Given the description of an element on the screen output the (x, y) to click on. 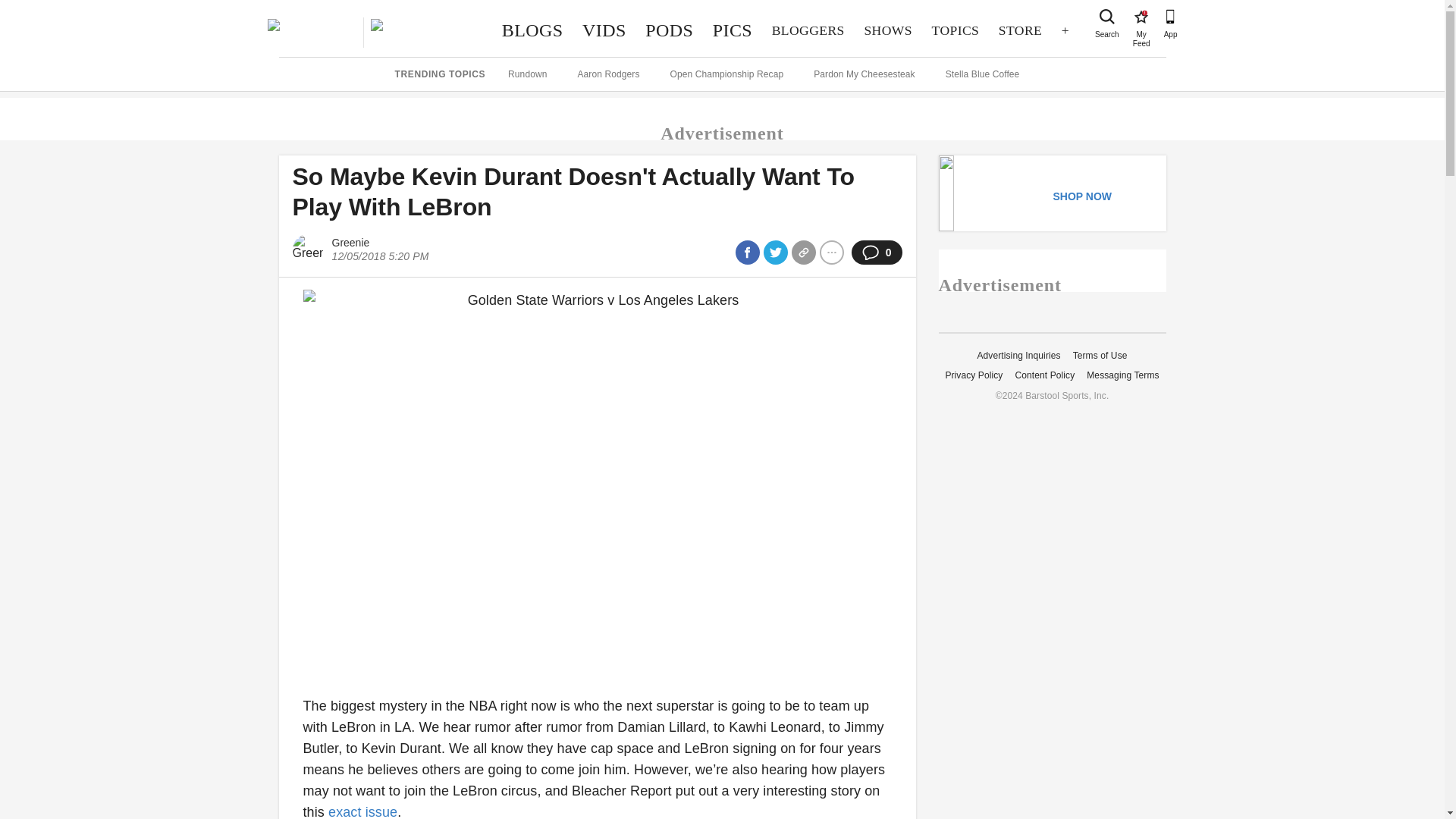
PICS (732, 30)
VIDS (603, 30)
BLOGGERS (807, 30)
Search (1107, 16)
TOPICS (954, 30)
BLOGS (1141, 16)
STORE (532, 30)
SHOWS (1019, 30)
PODS (887, 30)
